Given the description of an element on the screen output the (x, y) to click on. 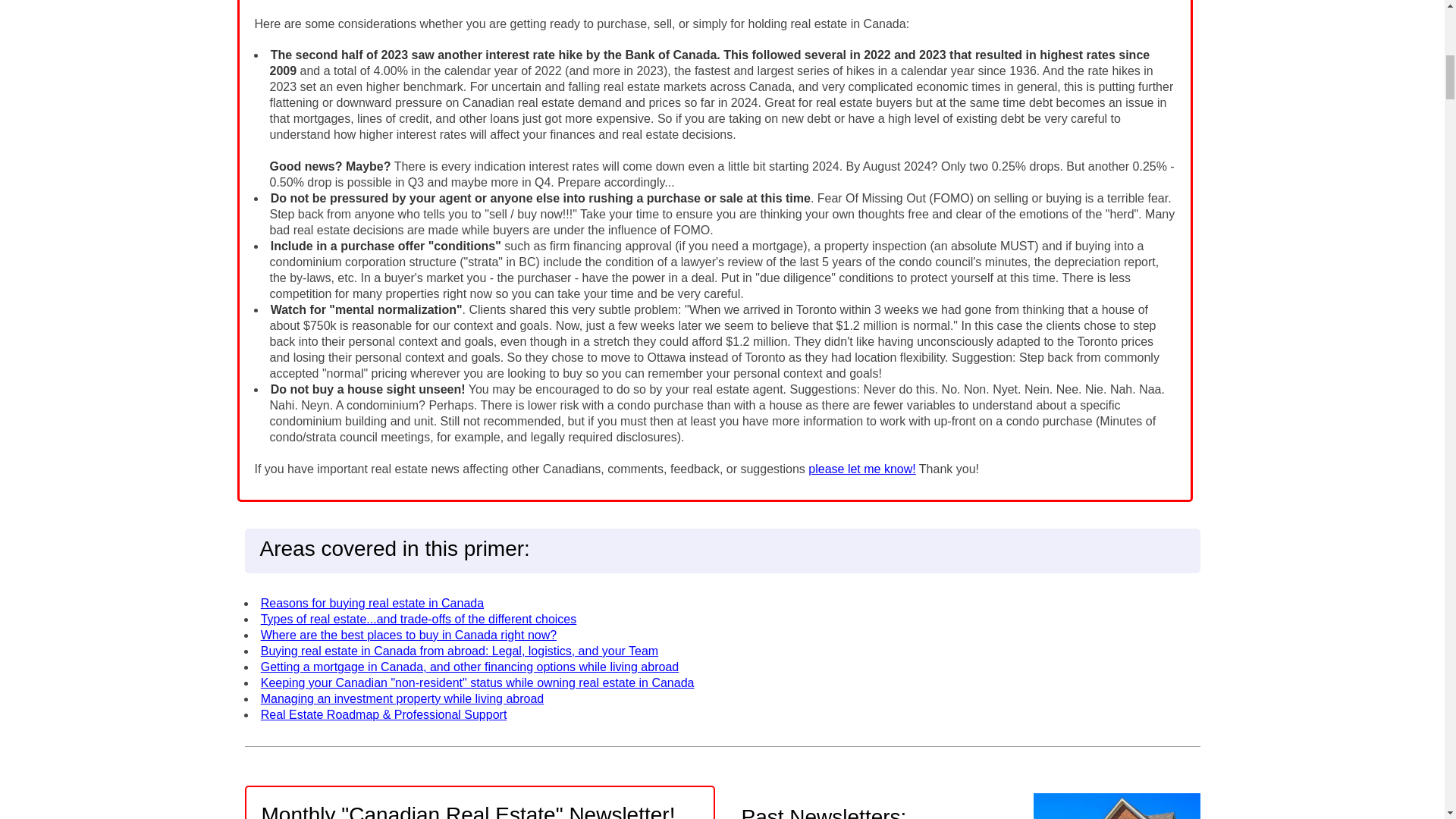
please let me know! (861, 468)
Reasons for buying real estate in Canada (371, 603)
Managing an investment property while living abroad (402, 698)
Where are the best places to buy in Canada right now? (408, 634)
